Given the description of an element on the screen output the (x, y) to click on. 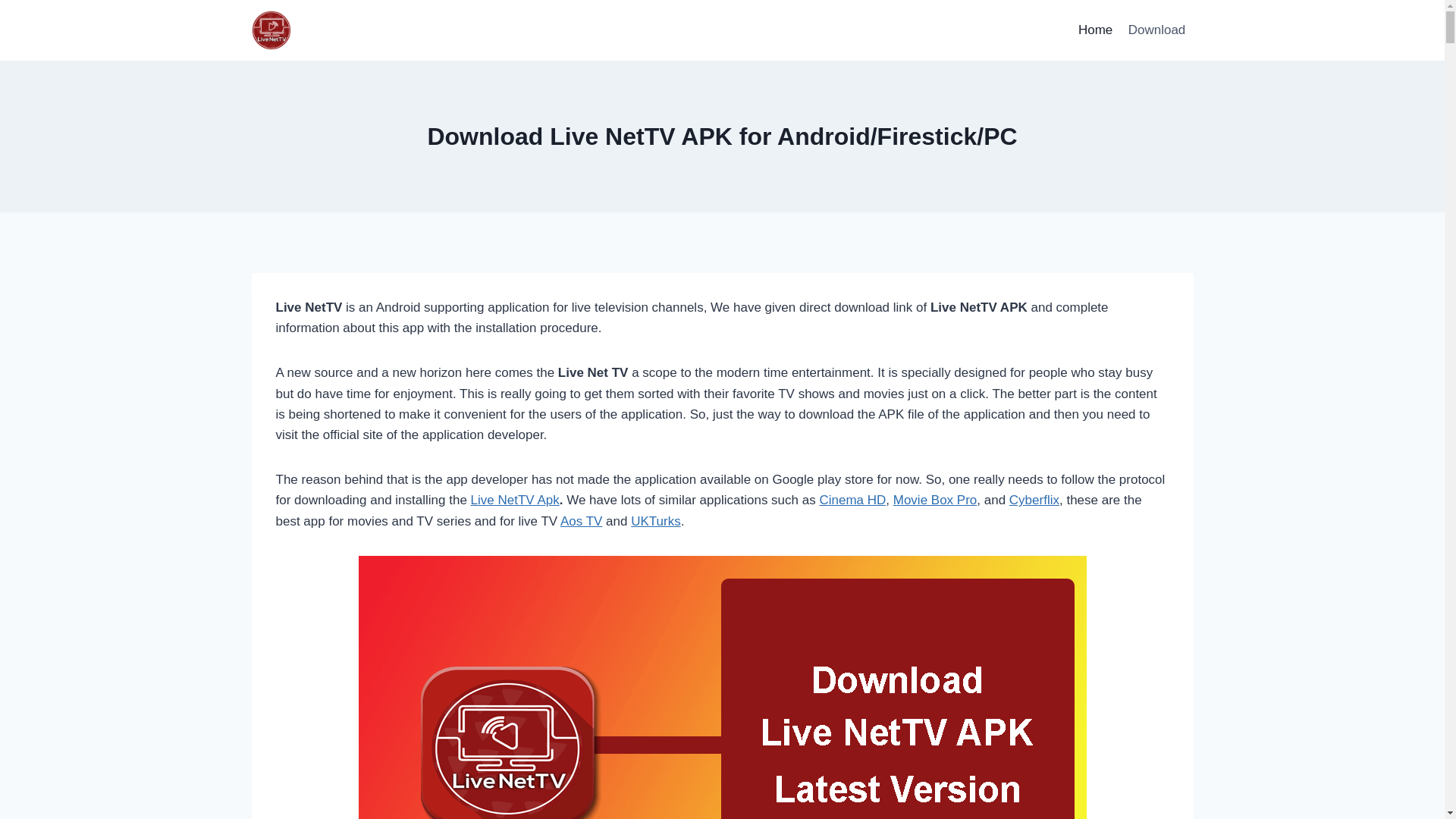
Live NetTV Apk Element type: text (514, 499)
Cyberflix Element type: text (1034, 499)
Download Element type: text (1156, 30)
UKTurks Element type: text (655, 521)
Aos TV Element type: text (581, 521)
Cinema HD Element type: text (852, 499)
Home Element type: text (1095, 30)
Movie Box Pro Element type: text (935, 499)
